Given the description of an element on the screen output the (x, y) to click on. 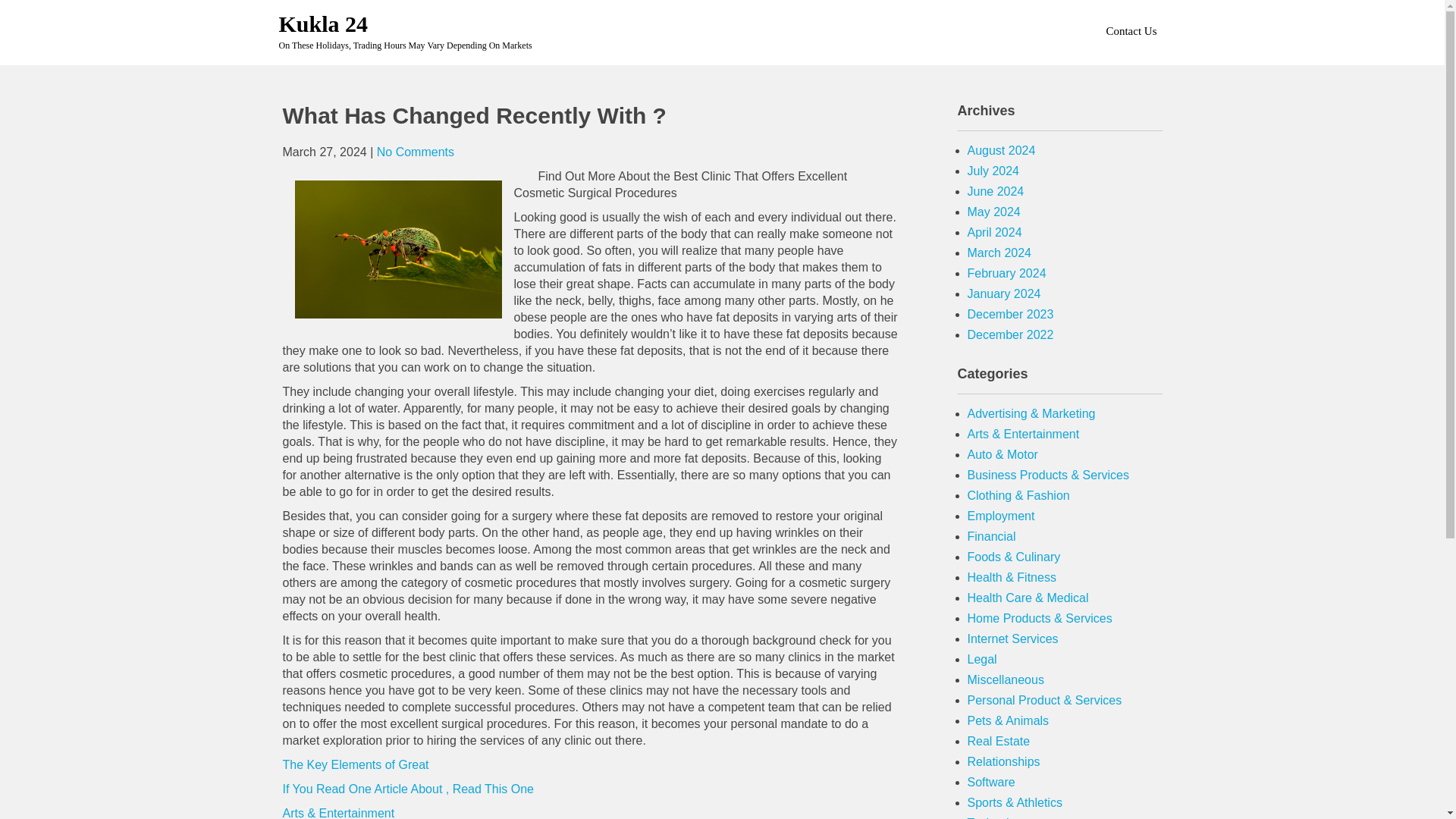
Contact Us (1130, 30)
April 2024 (995, 232)
May 2024 (994, 211)
Software (991, 781)
February 2024 (1007, 273)
Employment (1001, 515)
If You Read One Article About , Read This One (407, 788)
Kukla 24 (323, 23)
Real Estate (999, 740)
December 2022 (1011, 334)
